Given the description of an element on the screen output the (x, y) to click on. 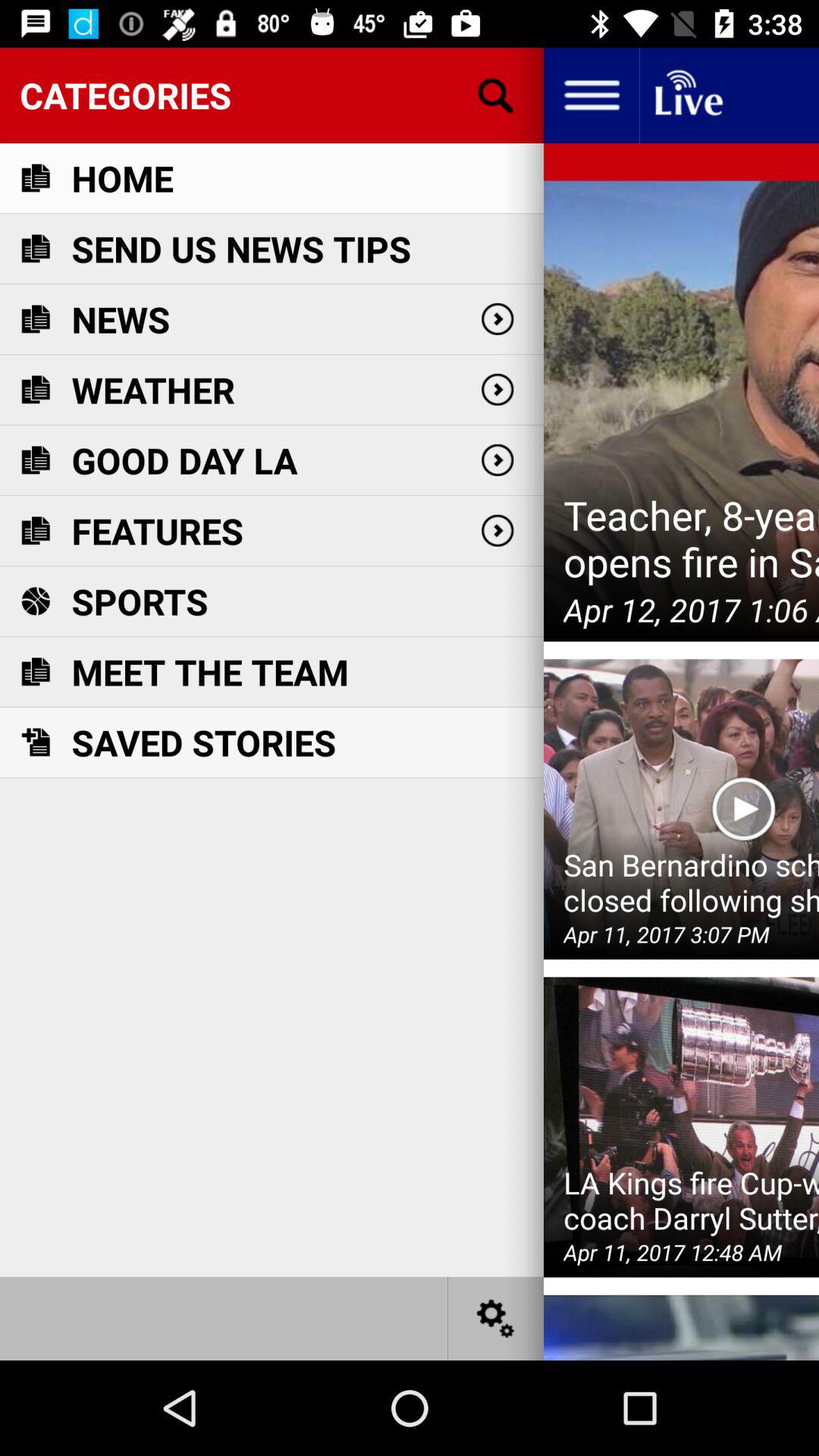
turn off the icon above the news icon (241, 248)
